Given the description of an element on the screen output the (x, y) to click on. 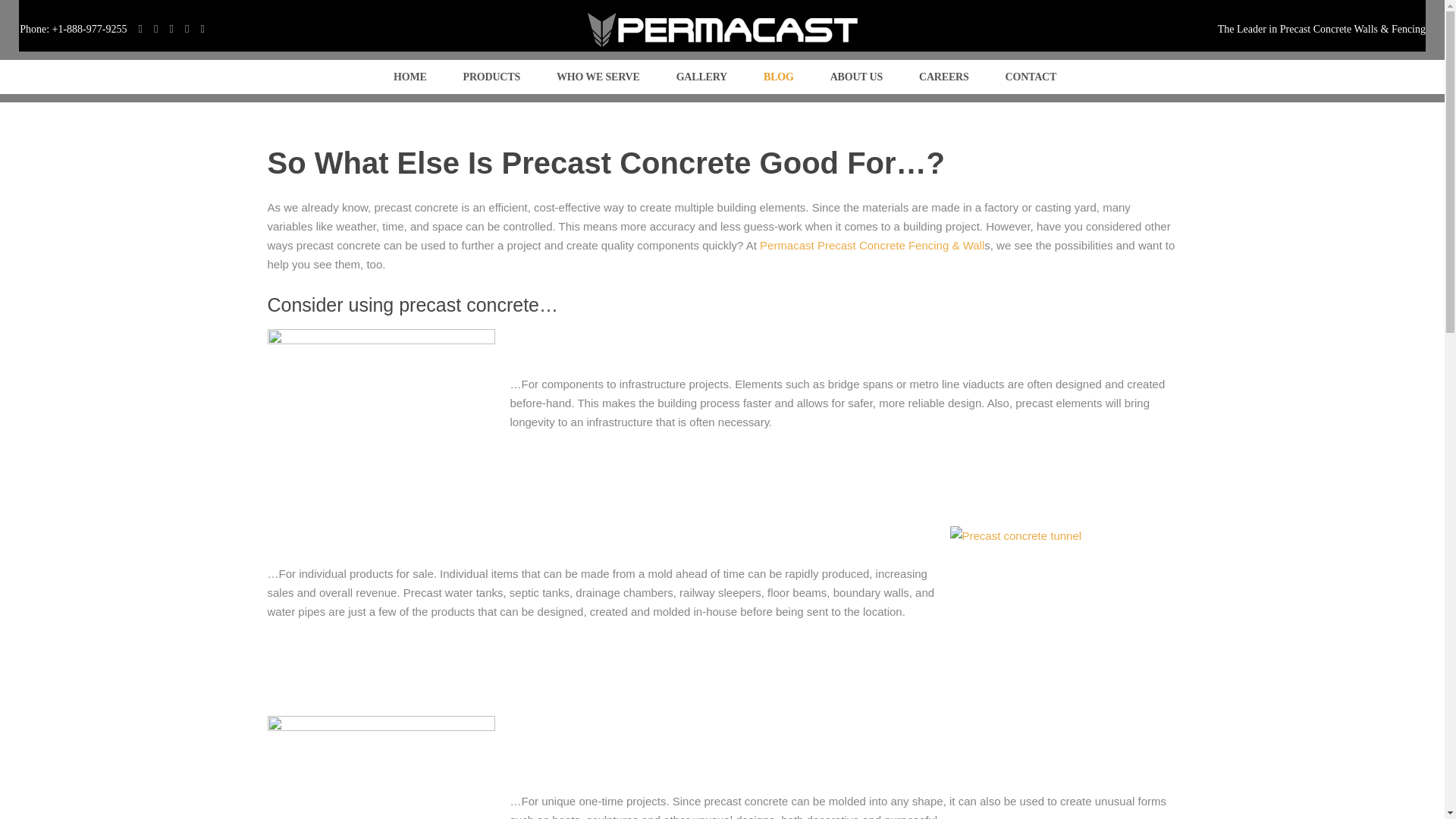
BLOG (775, 76)
U (989, 413)
WHO WE SERVE (595, 76)
CAREERS (941, 76)
HOME (407, 76)
ABOUT US (853, 76)
CONTACT (1029, 76)
PRODUCTS (488, 76)
GALLERY (699, 76)
Permacast Walls (407, 76)
